Given the description of an element on the screen output the (x, y) to click on. 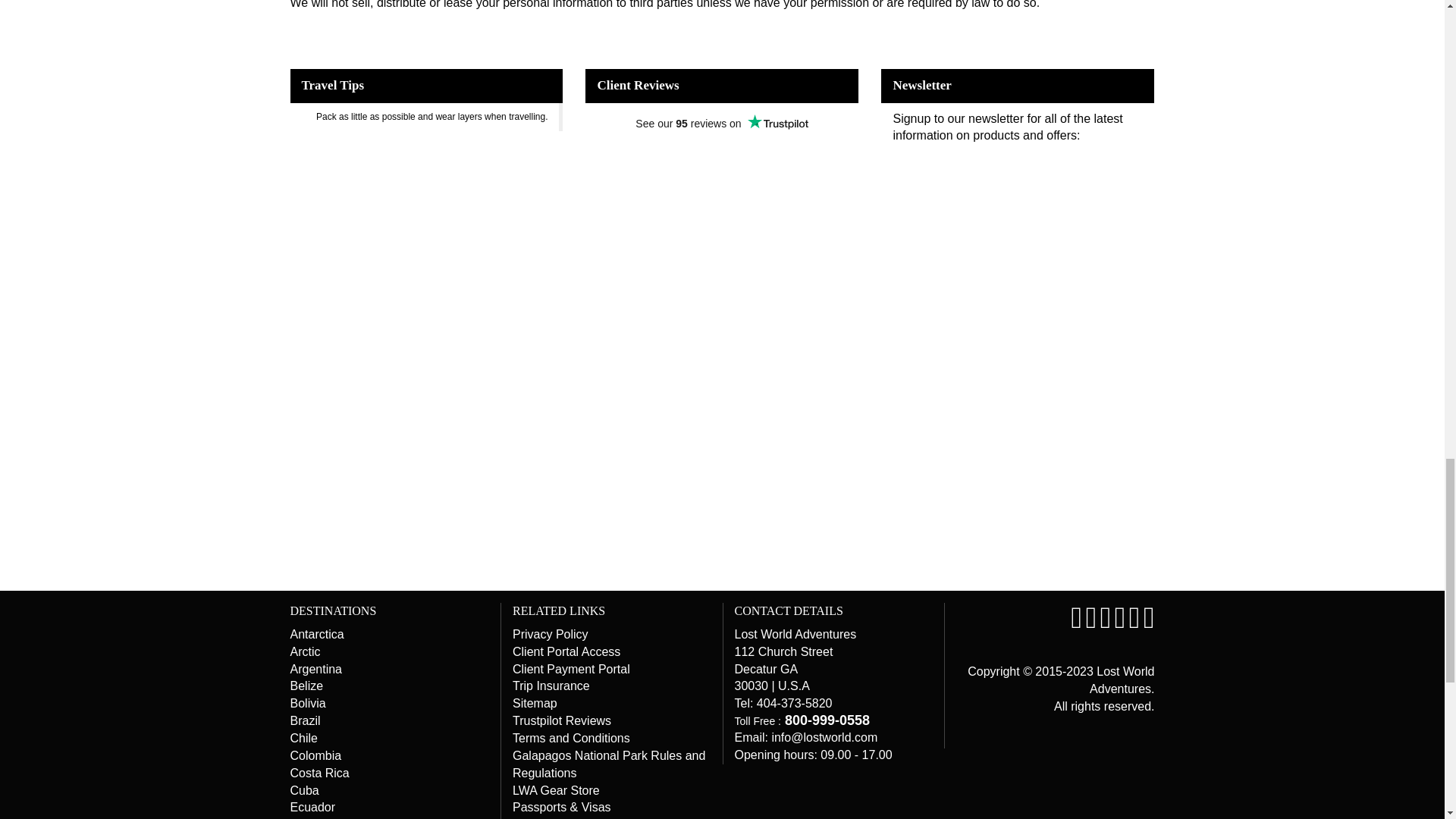
Customer reviews powered by Trustpilot (722, 156)
